Given the description of an element on the screen output the (x, y) to click on. 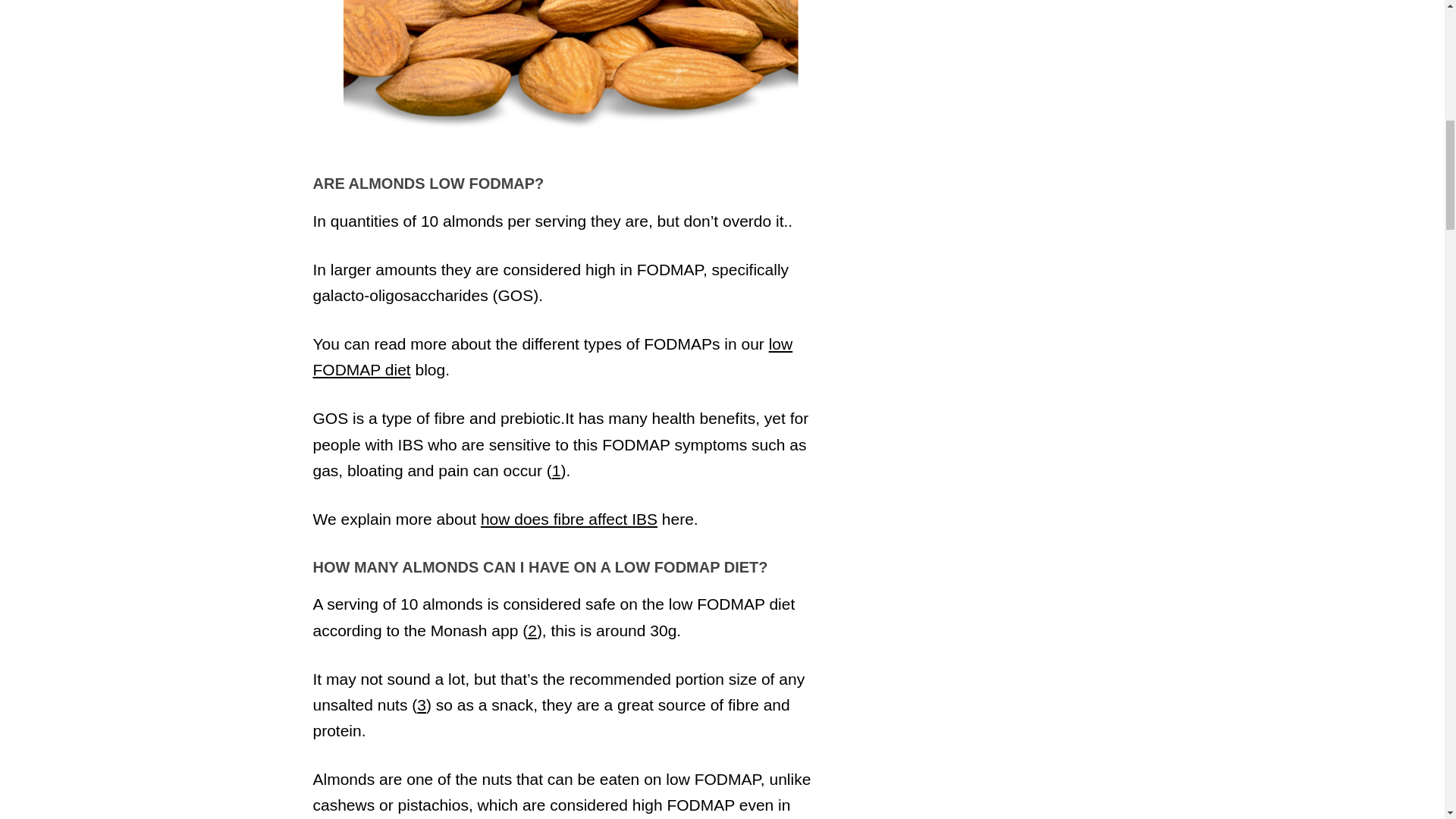
how does fibre affect IBS (569, 518)
low FODMAP diet (552, 356)
